Given the description of an element on the screen output the (x, y) to click on. 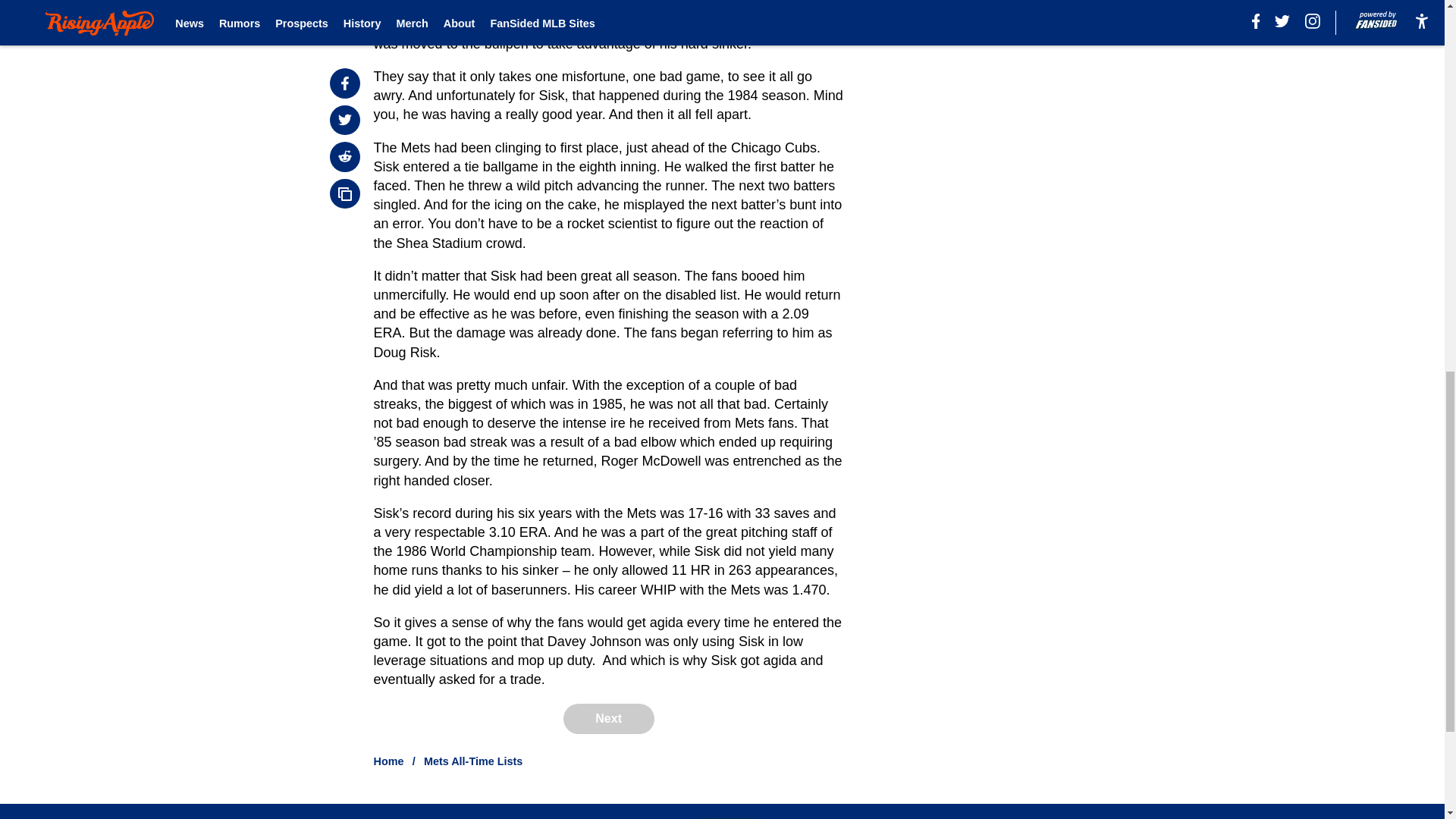
Mets All-Time Lists (472, 761)
Home (389, 761)
Next (608, 718)
